Given the description of an element on the screen output the (x, y) to click on. 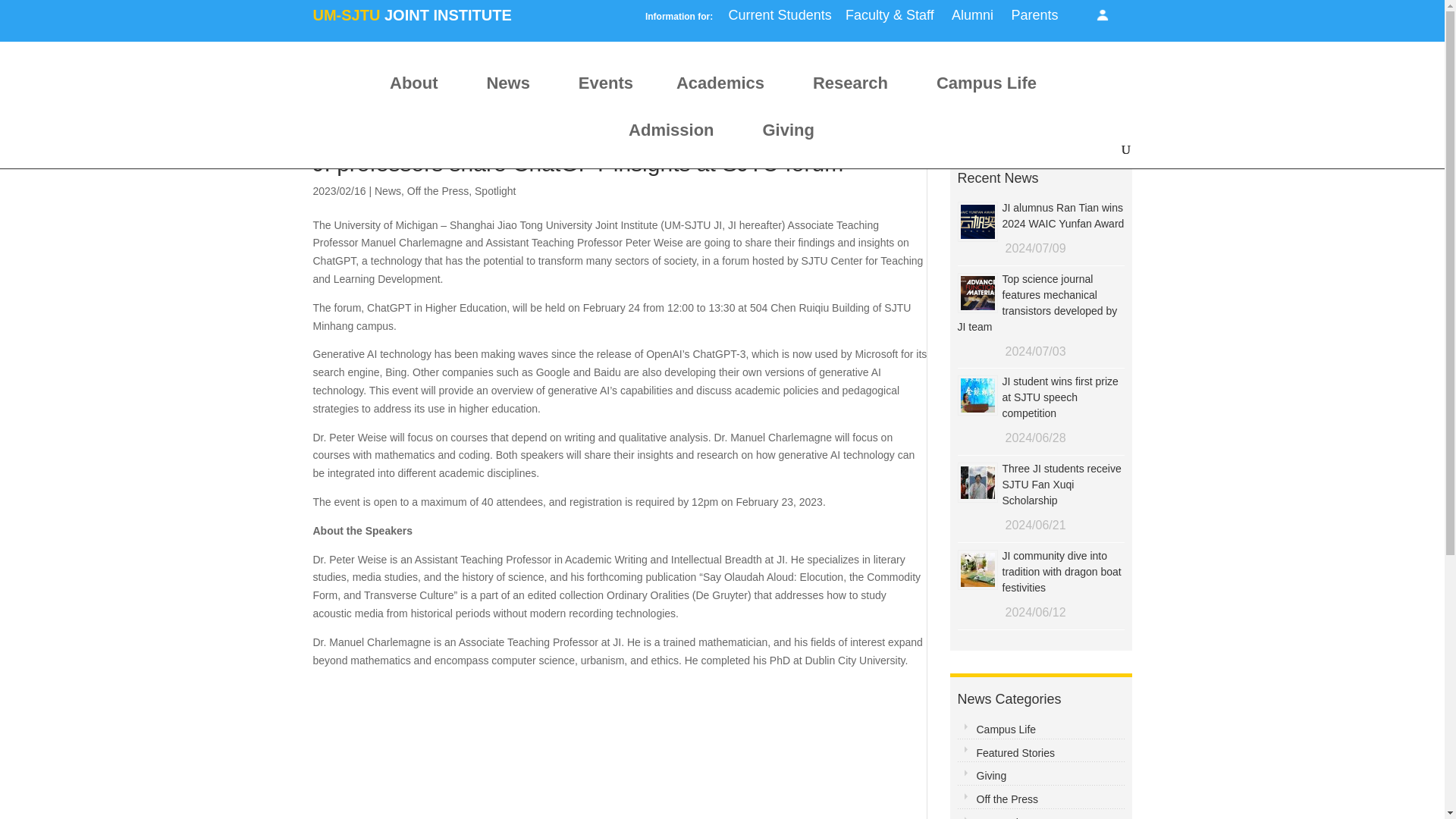
News (510, 89)
Alumni (972, 20)
Current Students (780, 20)
Research (852, 89)
About (416, 89)
Parents (1034, 20)
Go to the News category archives. (289, 98)
UM-SJTU JOINT INSTITUTE (412, 20)
Events (606, 89)
Academics (722, 89)
Go to UM-SJTU JI. (234, 98)
